Given the description of an element on the screen output the (x, y) to click on. 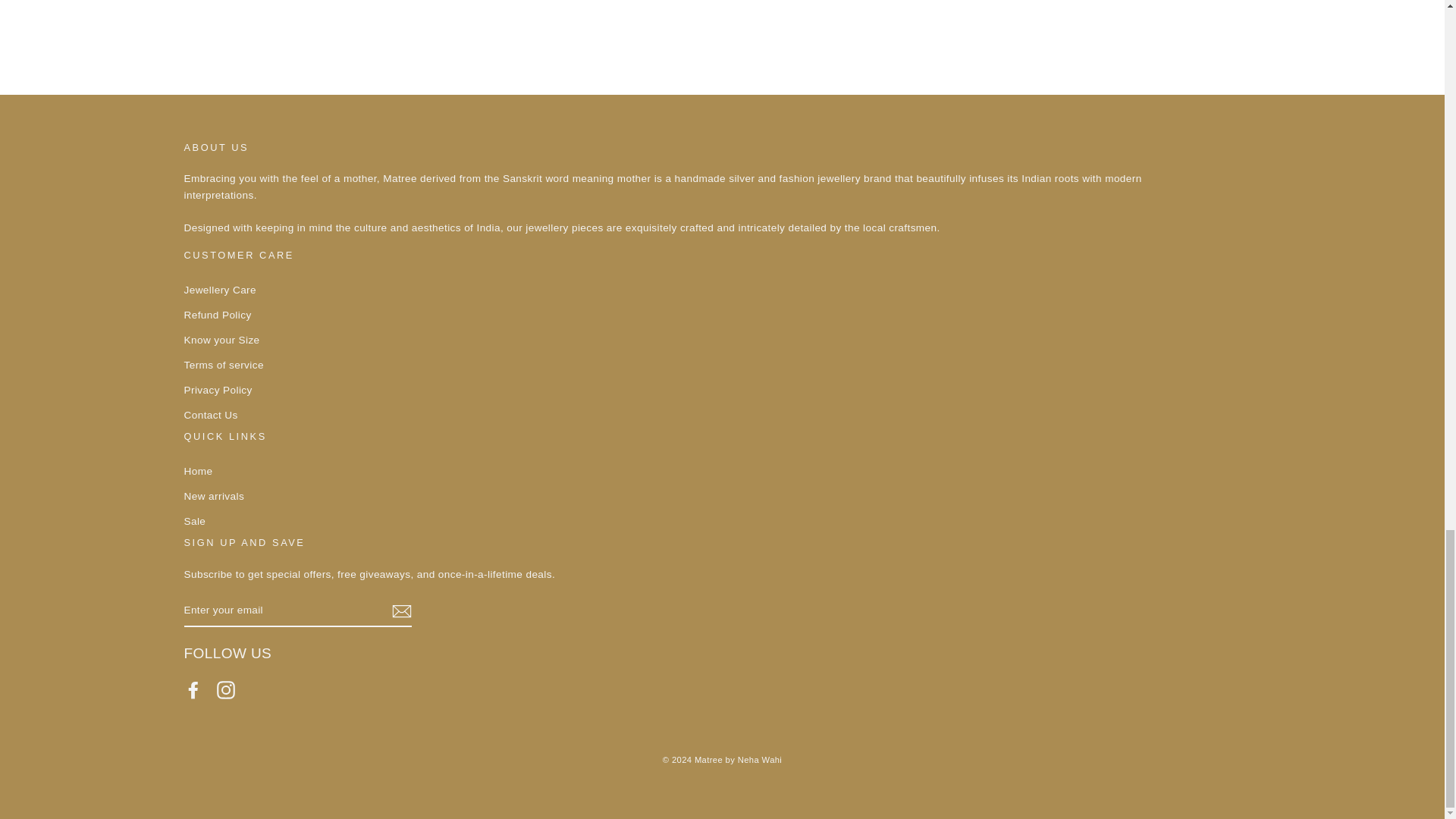
Matree by Neha Wahi on Facebook (192, 689)
Matree by Neha Wahi on Instagram (225, 689)
